Given the description of an element on the screen output the (x, y) to click on. 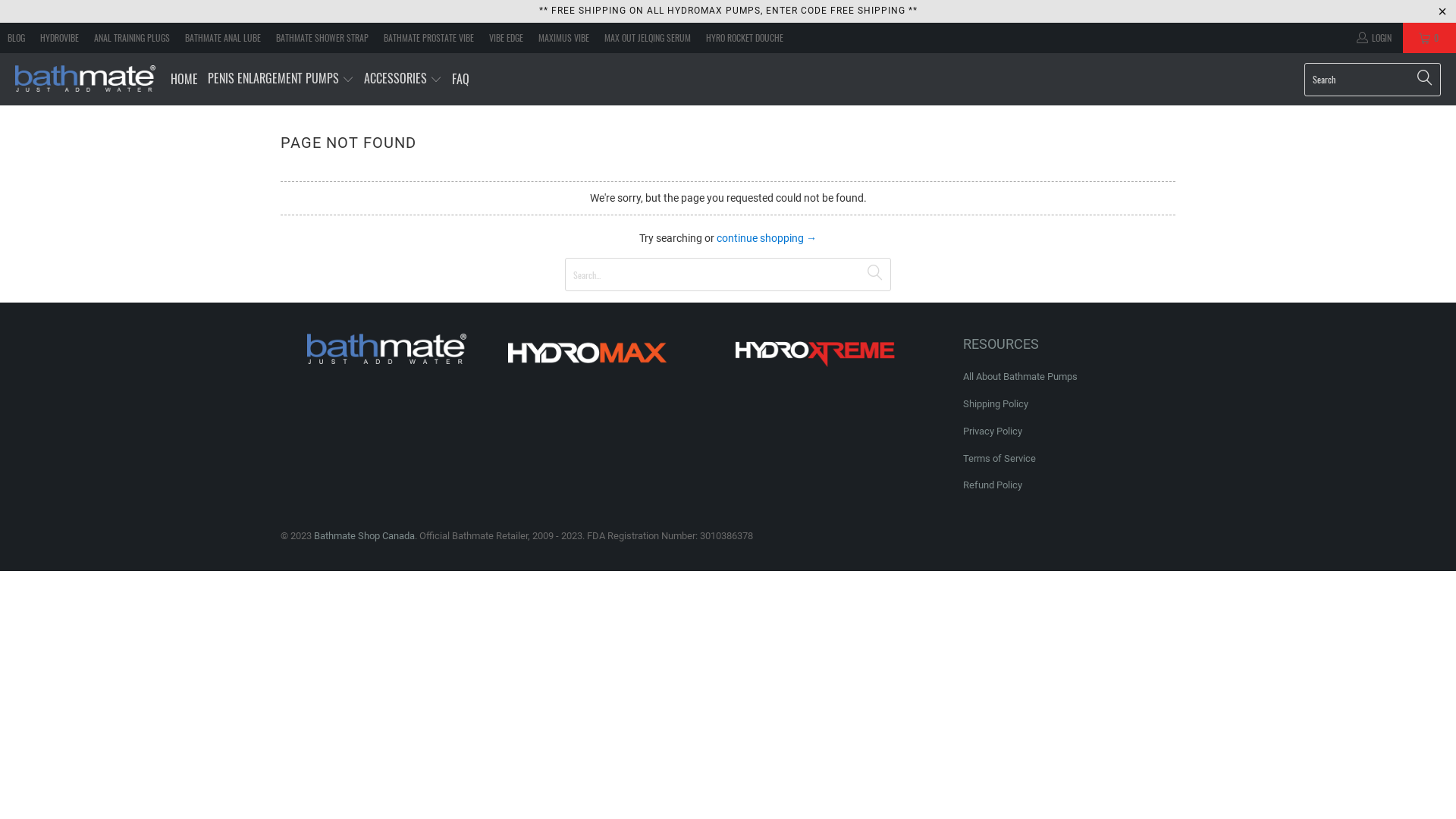
Bathmate Shop Canada Element type: text (363, 535)
HOME Element type: text (183, 79)
LOGIN Element type: text (1373, 37)
FAQ Element type: text (460, 79)
All About Bathmate Pumps Element type: text (1020, 376)
ANAL TRAINING PLUGS Element type: text (131, 37)
MAXIMUS VIBE Element type: text (563, 37)
Shipping Policy Element type: text (995, 403)
HYDROVIBE Element type: text (59, 37)
BATHMATE PROSTATE VIBE Element type: text (428, 37)
Privacy Policy Element type: text (992, 430)
Refund Policy Element type: text (992, 484)
BLOG Element type: text (16, 37)
HYRO ROCKET DOUCHE Element type: text (744, 37)
Bathmate Shop Canada Element type: hover (85, 79)
Terms of Service Element type: text (999, 458)
MAX OUT JELQING SERUM Element type: text (647, 37)
BATHMATE ANAL LUBE Element type: text (222, 37)
VIBE EDGE Element type: text (506, 37)
BATHMATE SHOWER STRAP Element type: text (322, 37)
